Given the description of an element on the screen output the (x, y) to click on. 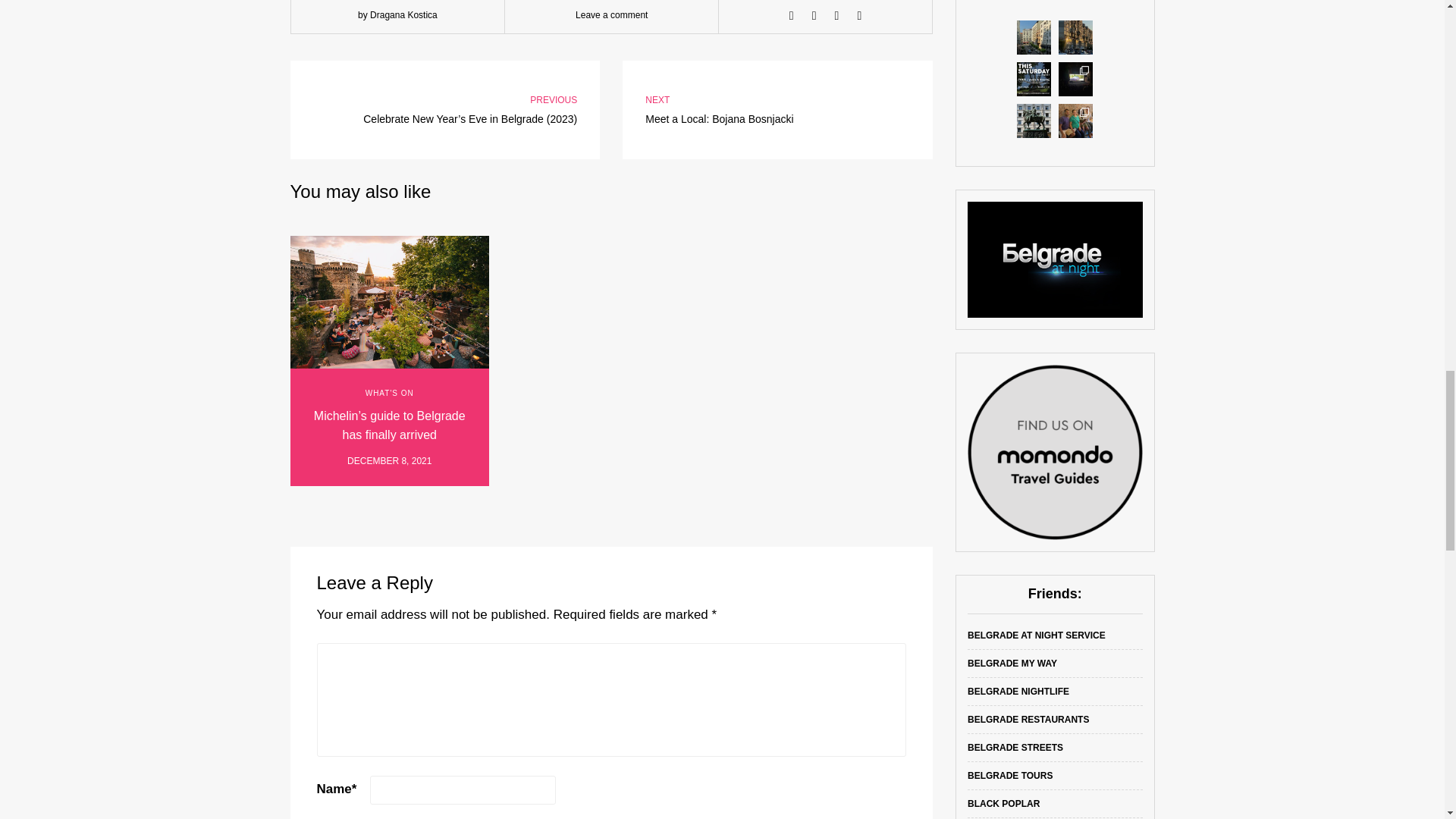
Share with Google Plus (837, 15)
wiso portal (1055, 259)
Tweet this (814, 15)
Share this (791, 15)
Pin this (858, 15)
